Given the description of an element on the screen output the (x, y) to click on. 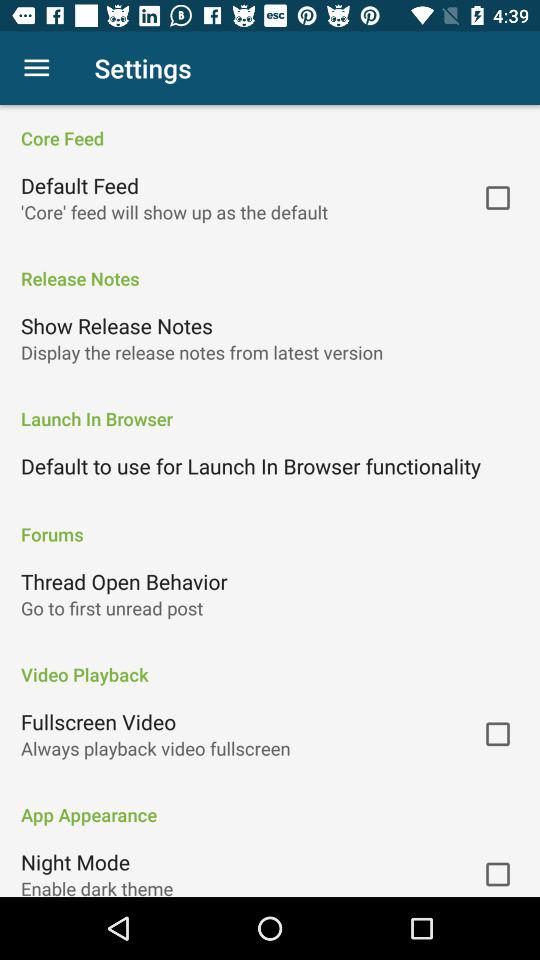
select the item below the show release notes (202, 352)
